Given the description of an element on the screen output the (x, y) to click on. 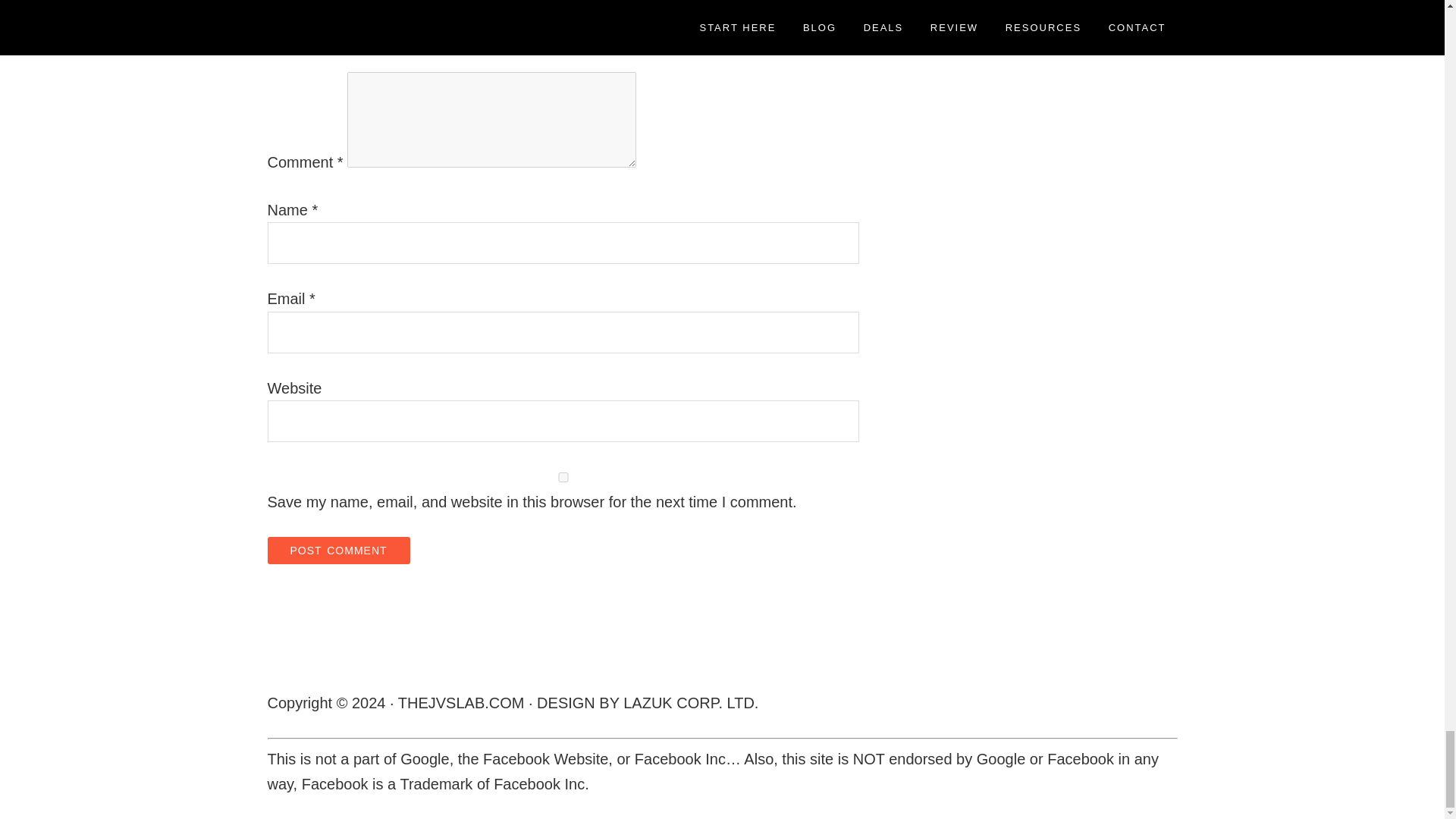
Post Comment (337, 550)
yes (562, 477)
